Given the description of an element on the screen output the (x, y) to click on. 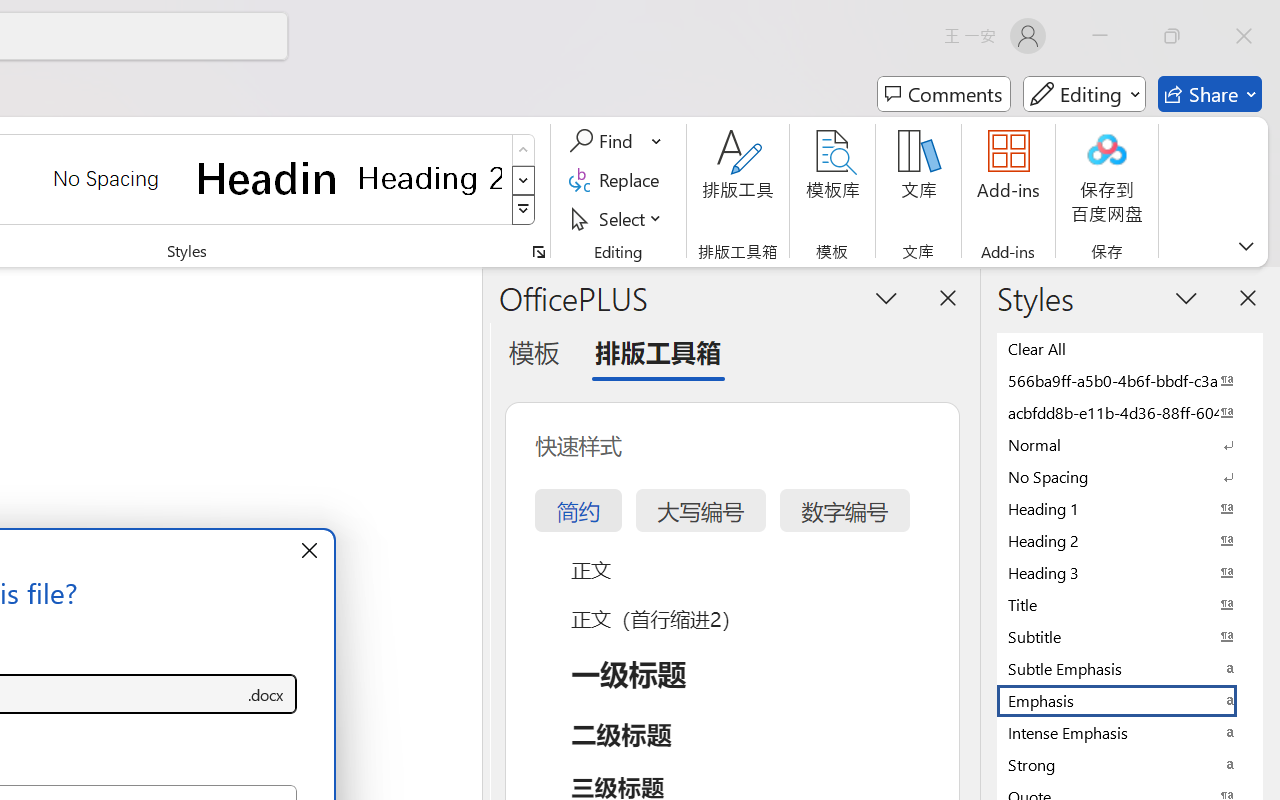
Find (604, 141)
Mode (1083, 94)
Intense Emphasis (1130, 732)
566ba9ff-a5b0-4b6f-bbdf-c3ab41993fc2 (1130, 380)
Ribbon Display Options (1246, 245)
Find (616, 141)
Row Down (523, 180)
